Given the description of an element on the screen output the (x, y) to click on. 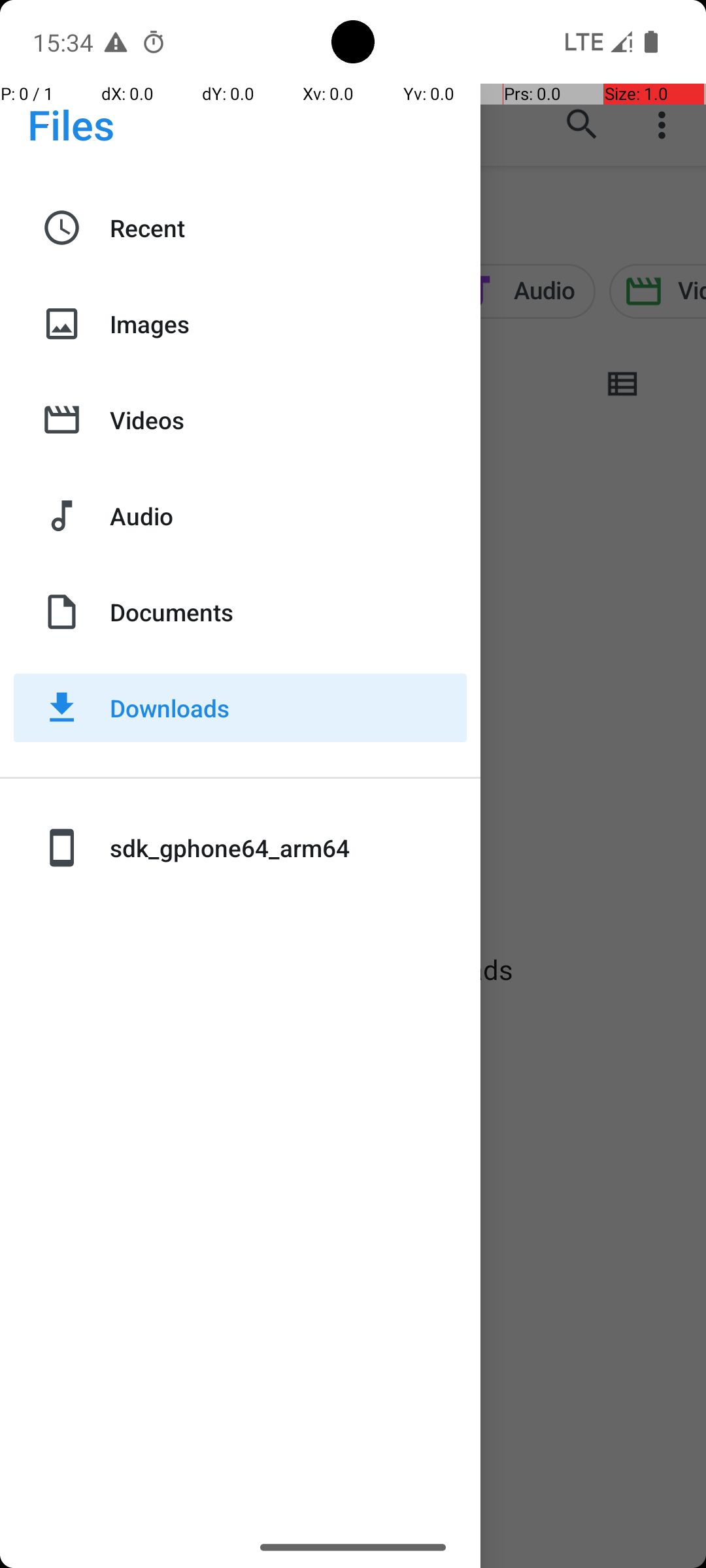
Files Element type: android.widget.TextView (70, 124)
sdk_gphone64_arm64 Element type: android.widget.TextView (287, 847)
